Given the description of an element on the screen output the (x, y) to click on. 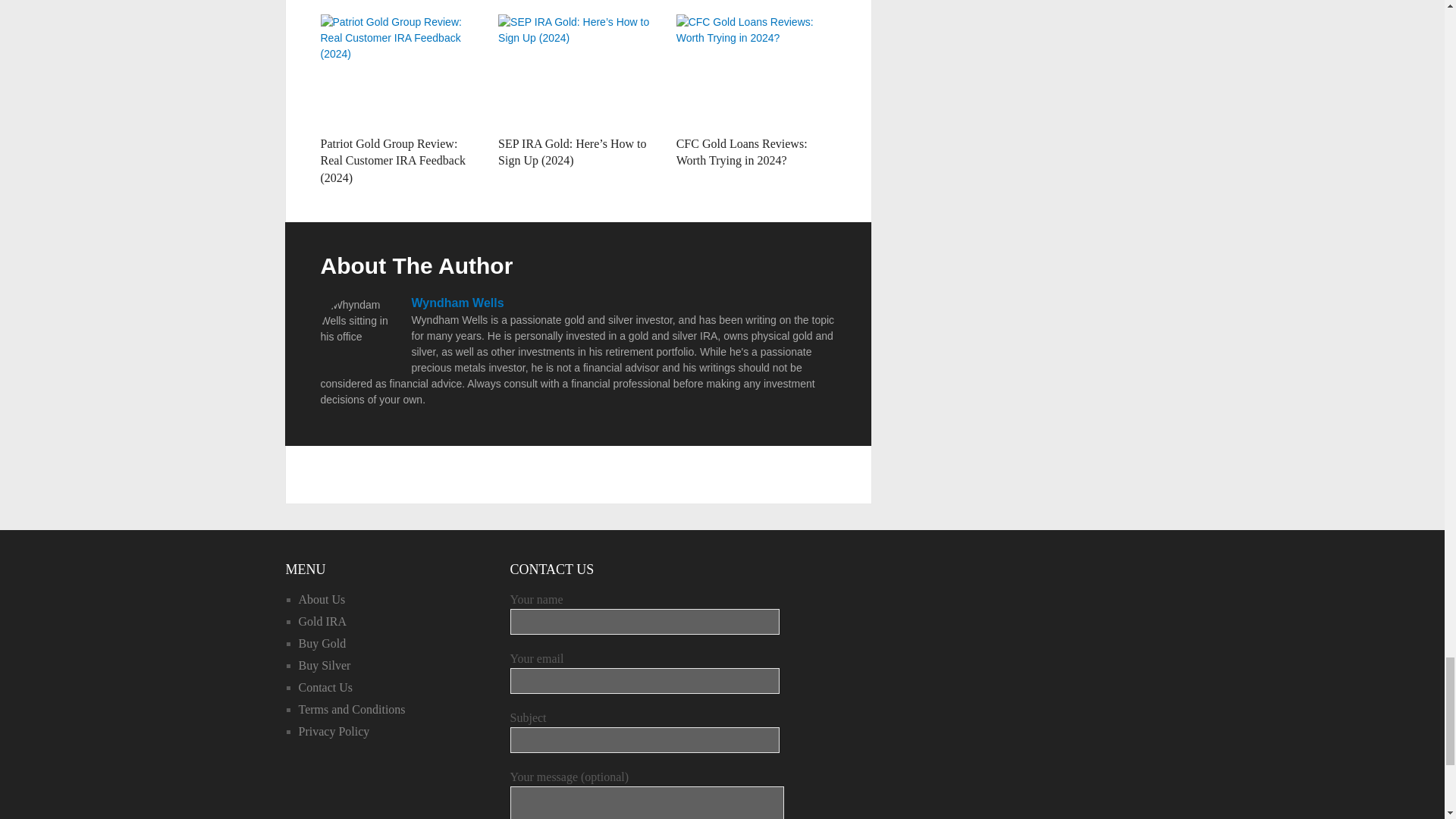
Buy Gold (322, 643)
CFC Gold Loans Reviews: Worth Trying in 2024? (742, 152)
Buy Silver (324, 665)
Wyndham Wells (456, 302)
About Us (322, 599)
Gold IRA (322, 621)
